Given the description of an element on the screen output the (x, y) to click on. 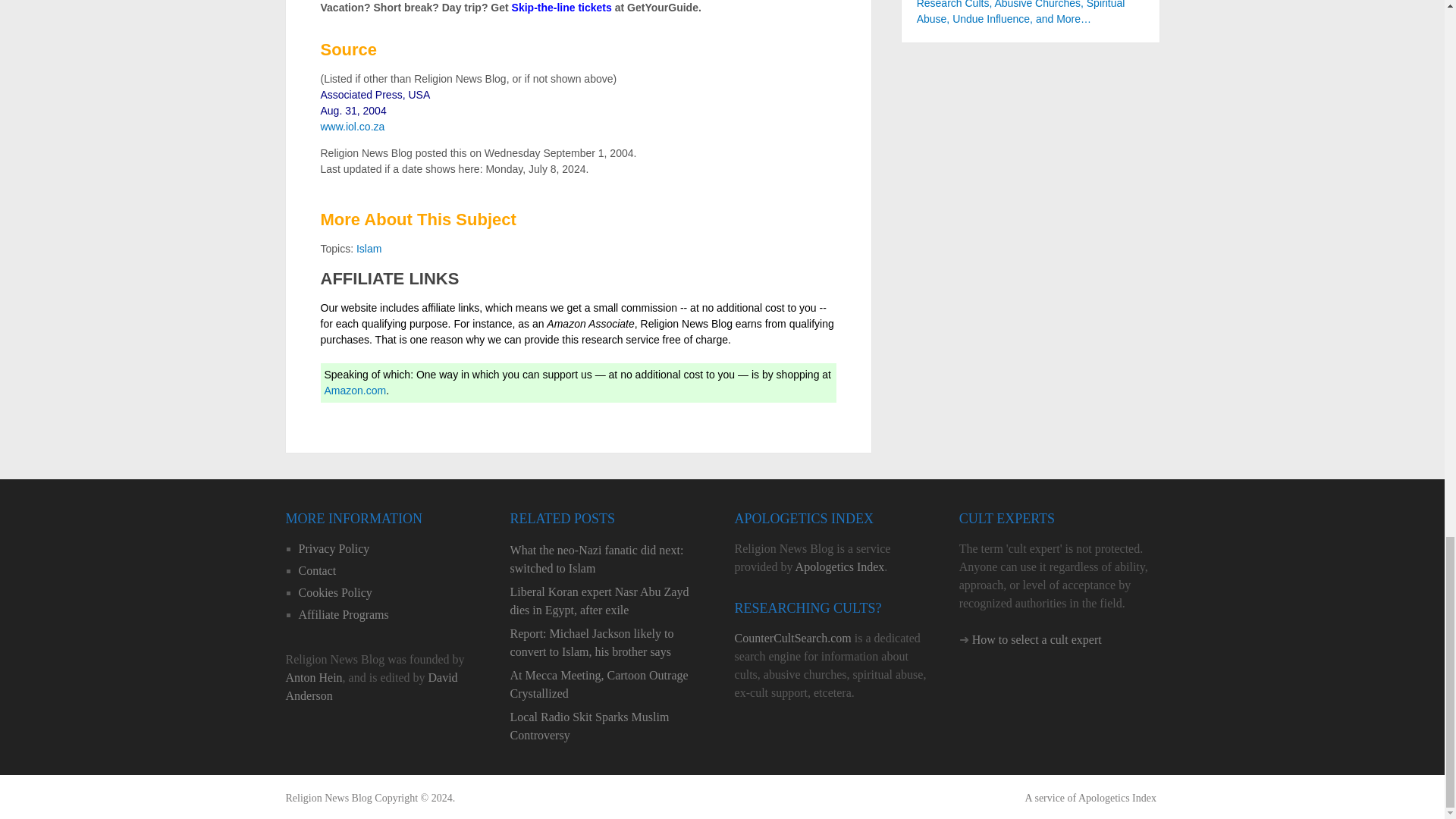
www.iol.co.za (352, 126)
Islam (368, 248)
Local Radio Skit Sparks Muslim Controversy (610, 726)
Amazon.com (355, 390)
Skip-the-line tickets (561, 7)
 Religion news: religious cults, sects, and world religions (328, 797)
At Mecca Meeting, Cartoon Outrage Crystallized (610, 684)
What the neo-Nazi fanatic did next: switched to Islam (610, 559)
